Given the description of an element on the screen output the (x, y) to click on. 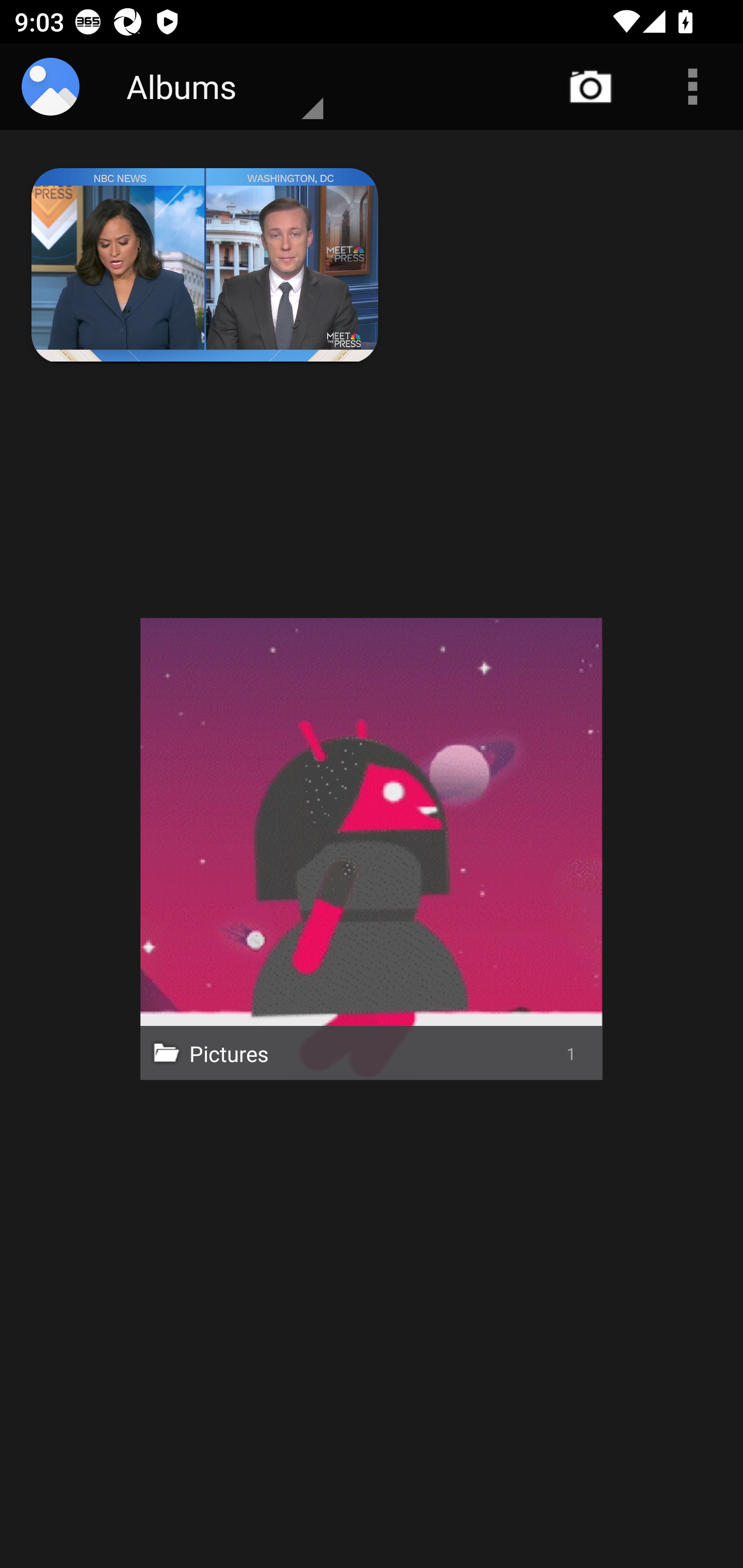
Albums (208, 86)
Switch to Camera (590, 86)
More options (692, 86)
